Given the description of an element on the screen output the (x, y) to click on. 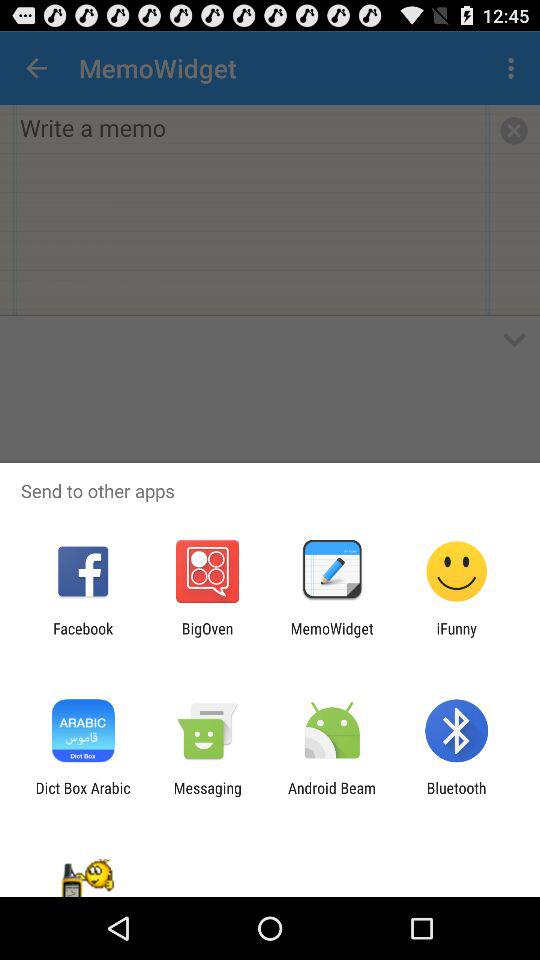
select app to the right of facebook icon (207, 637)
